Given the description of an element on the screen output the (x, y) to click on. 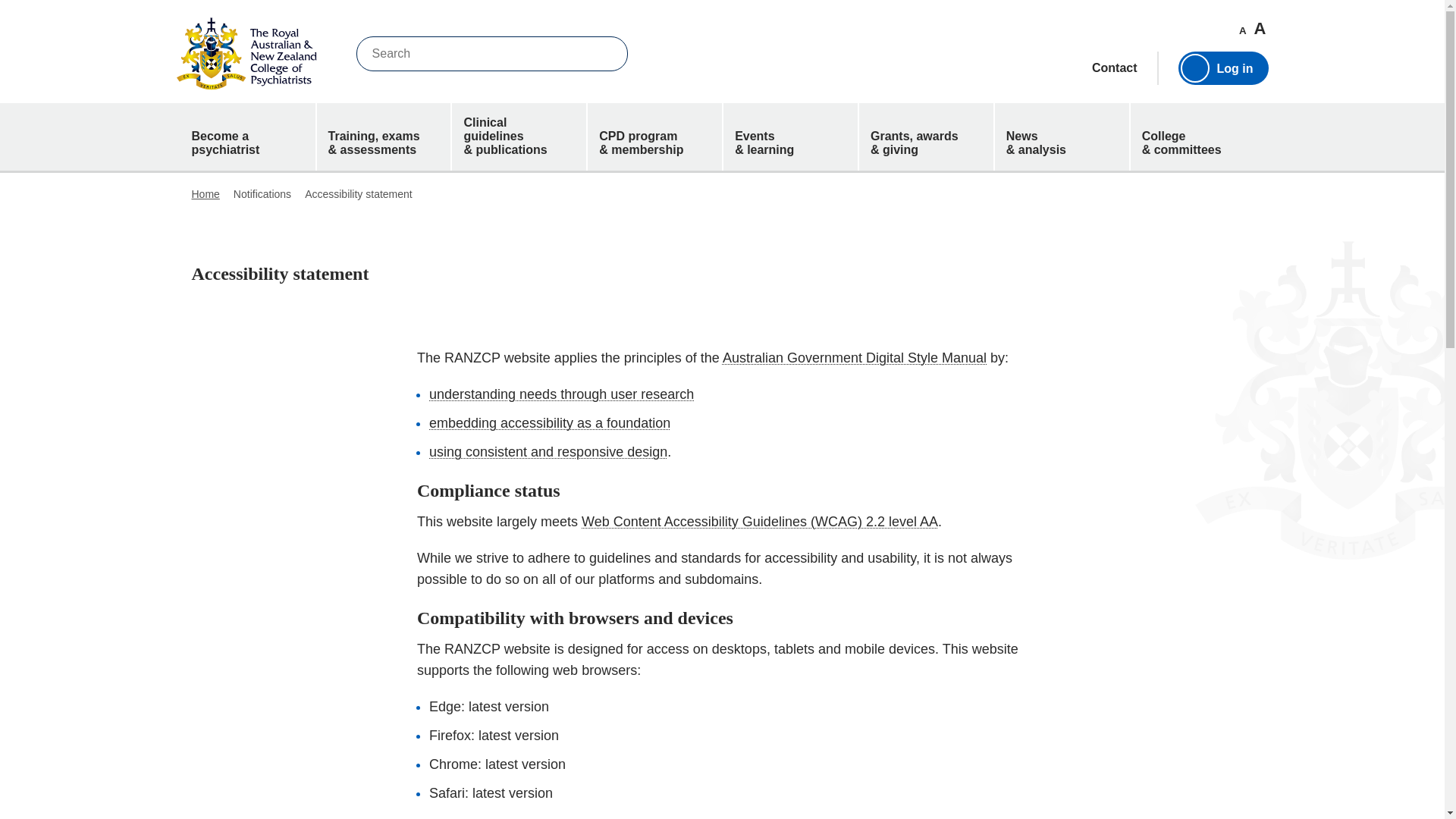
Search (605, 53)
RANZCP homepage (245, 53)
Become a psychiatrist (247, 136)
Contact (1114, 68)
A (1242, 30)
Log in (1222, 68)
